Given the description of an element on the screen output the (x, y) to click on. 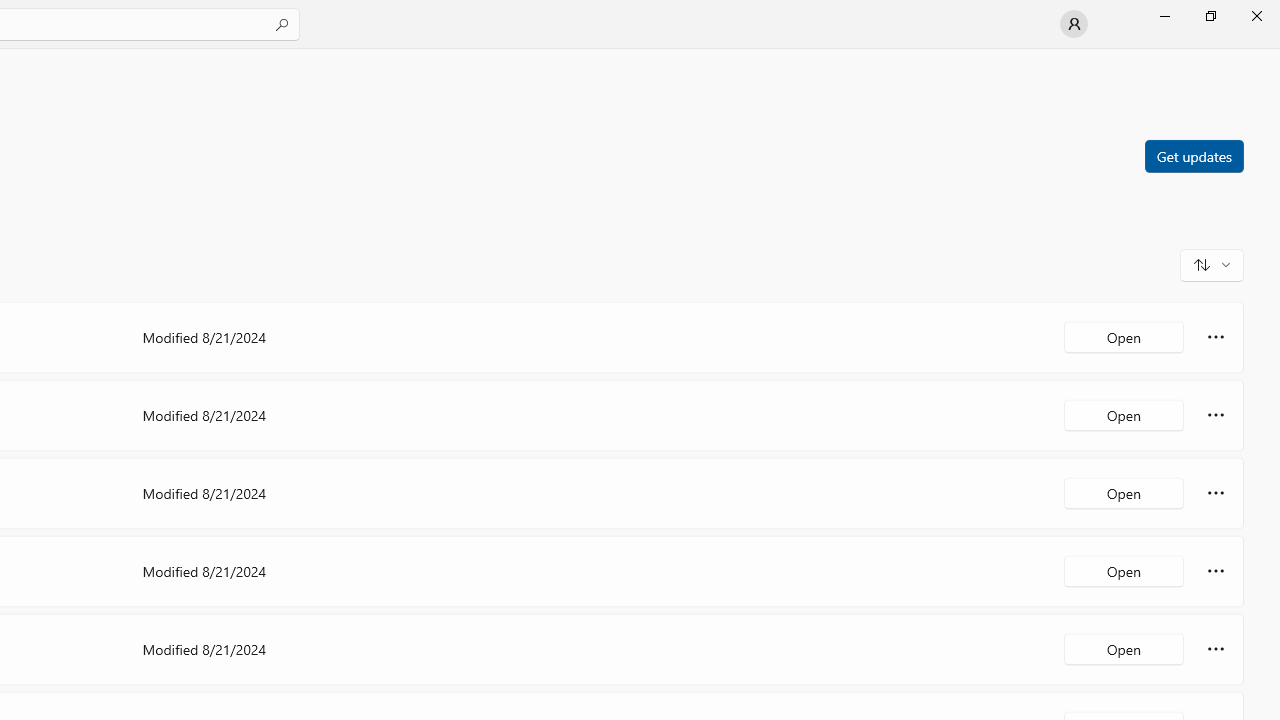
Restore Microsoft Store (1210, 15)
Close Microsoft Store (1256, 15)
Sort and filter (1212, 263)
User profile (1073, 24)
Open (1123, 648)
Minimize Microsoft Store (1164, 15)
More options (1215, 648)
Get updates (1193, 155)
